Given the description of an element on the screen output the (x, y) to click on. 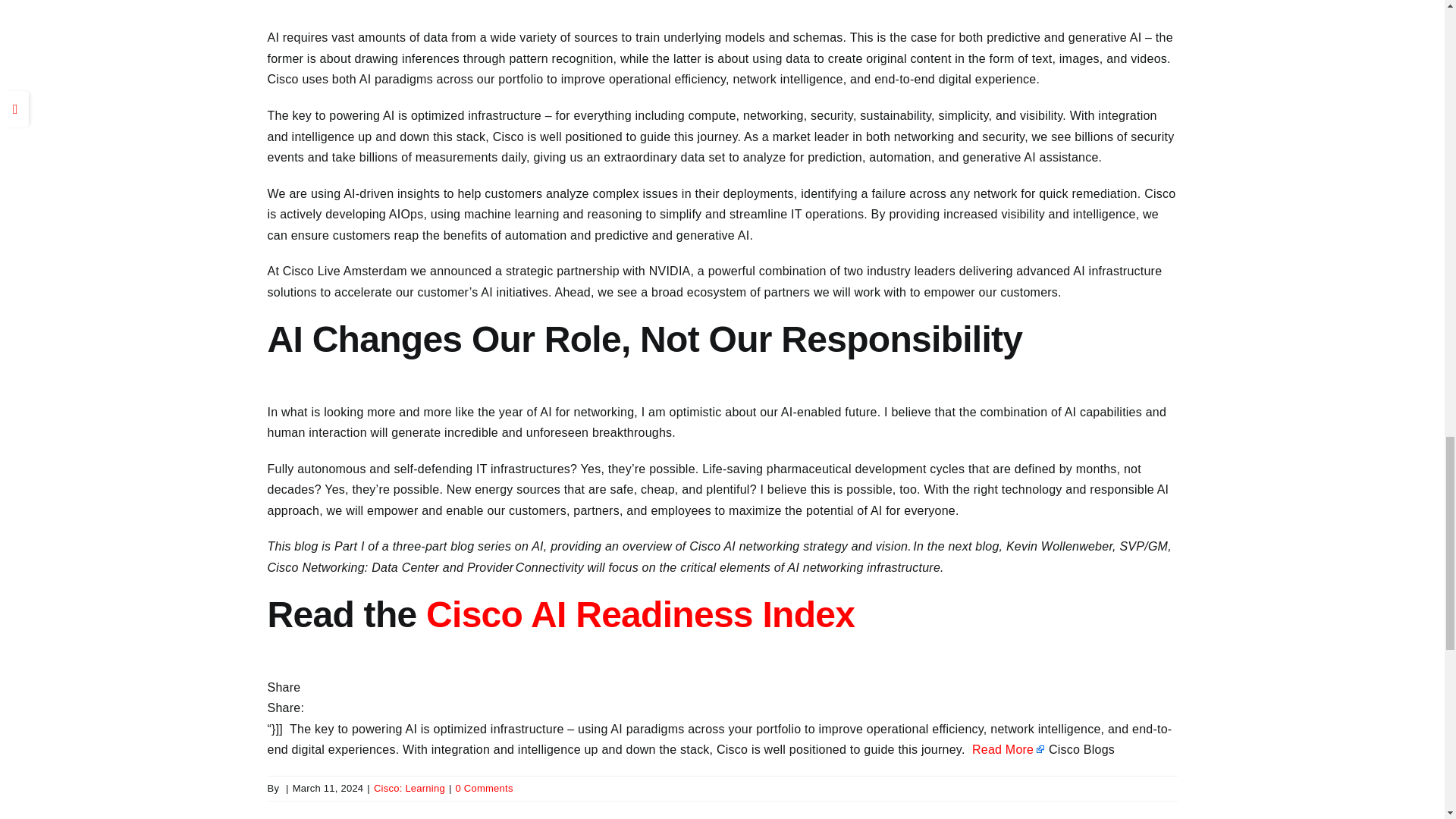
0 Comments (484, 787)
Read More (1008, 748)
Cisco: Learning (409, 787)
Cisco AI Readiness Index (640, 614)
